Given the description of an element on the screen output the (x, y) to click on. 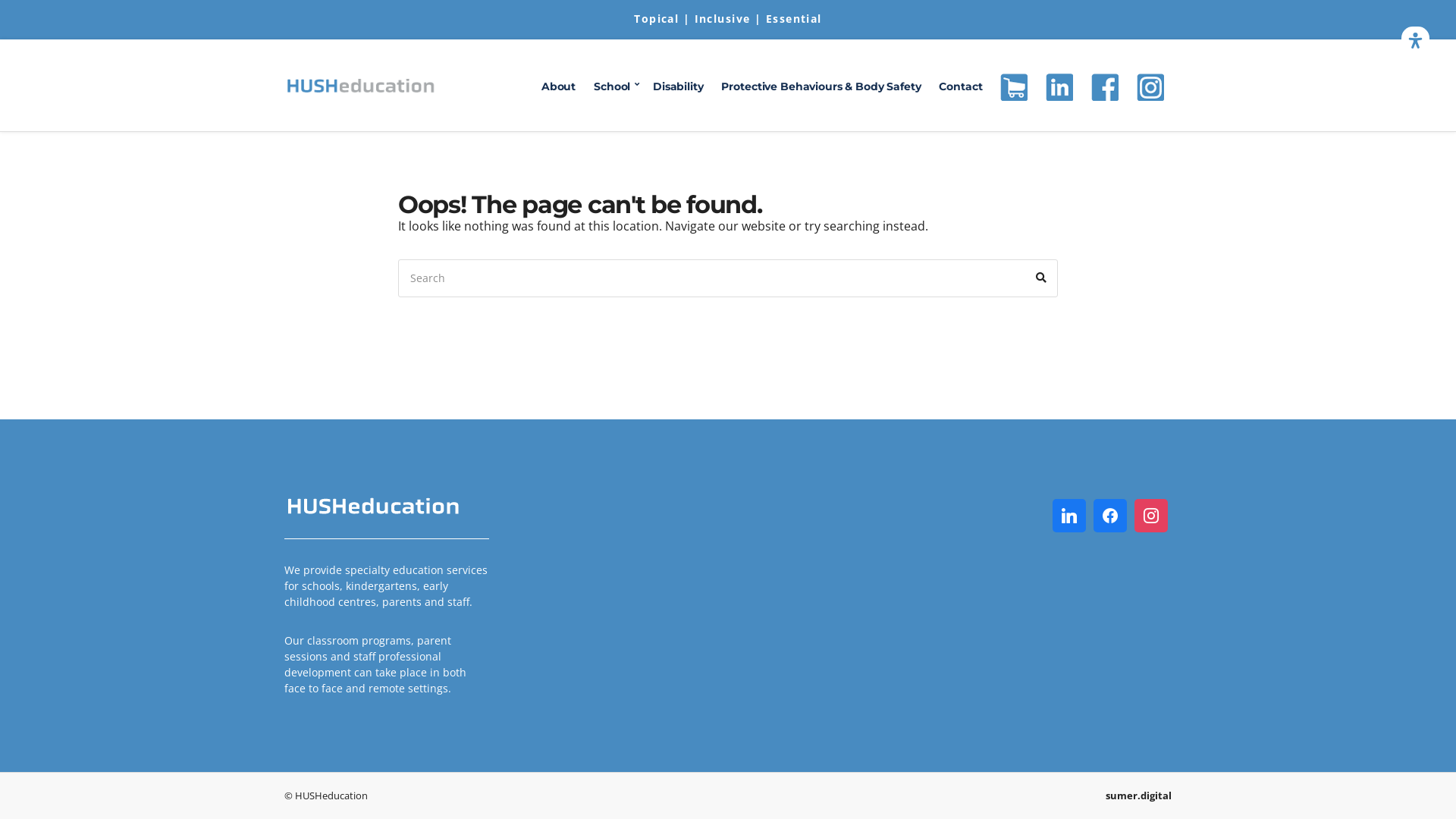
Visit us on LinkedIn Element type: hover (1059, 86)
Find us on Facebook Element type: hover (1104, 86)
Disability Element type: text (677, 86)
Protective Behaviours & Body Safety Element type: text (820, 86)
About Element type: text (558, 86)
Search Element type: text (1040, 278)
sumer.digital Element type: text (1138, 795)
Visit our online Store Element type: hover (1013, 86)
School Element type: text (613, 86)
Contact Element type: text (960, 86)
Visit our Instagram page Element type: hover (1150, 86)
